Given the description of an element on the screen output the (x, y) to click on. 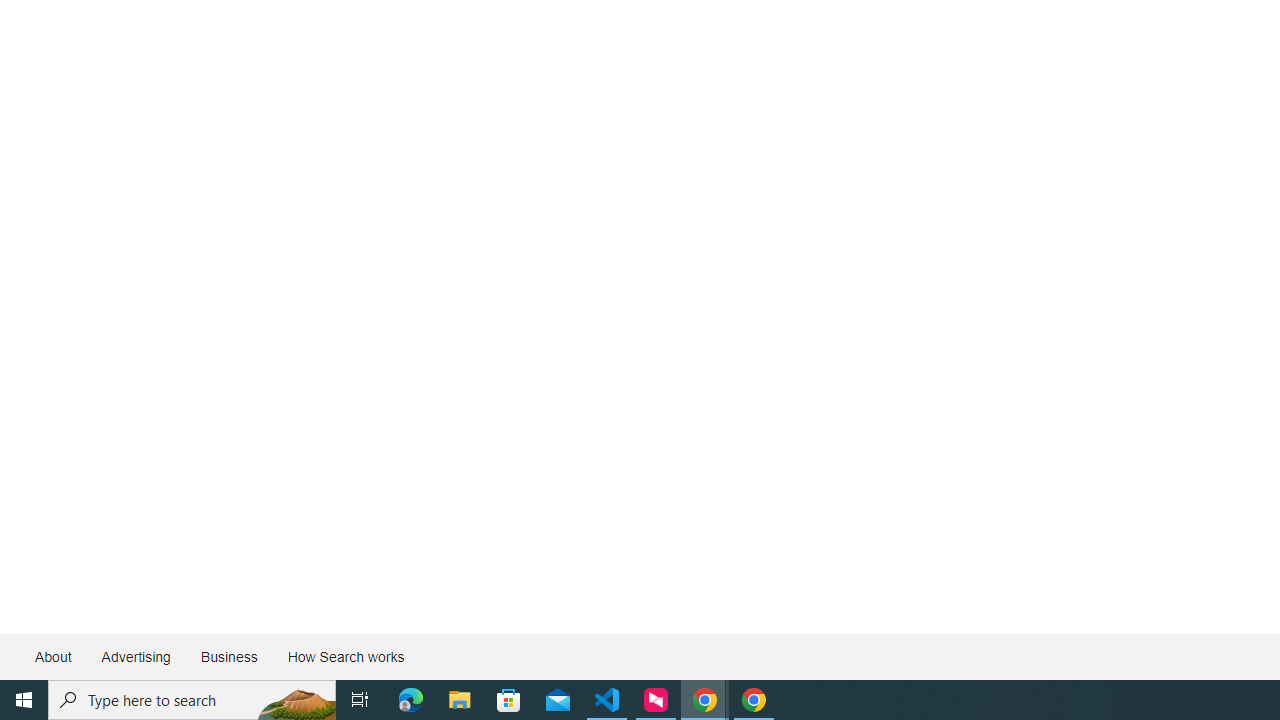
Advertising (135, 656)
How Search works (345, 656)
About (53, 656)
Business (228, 656)
